Given the description of an element on the screen output the (x, y) to click on. 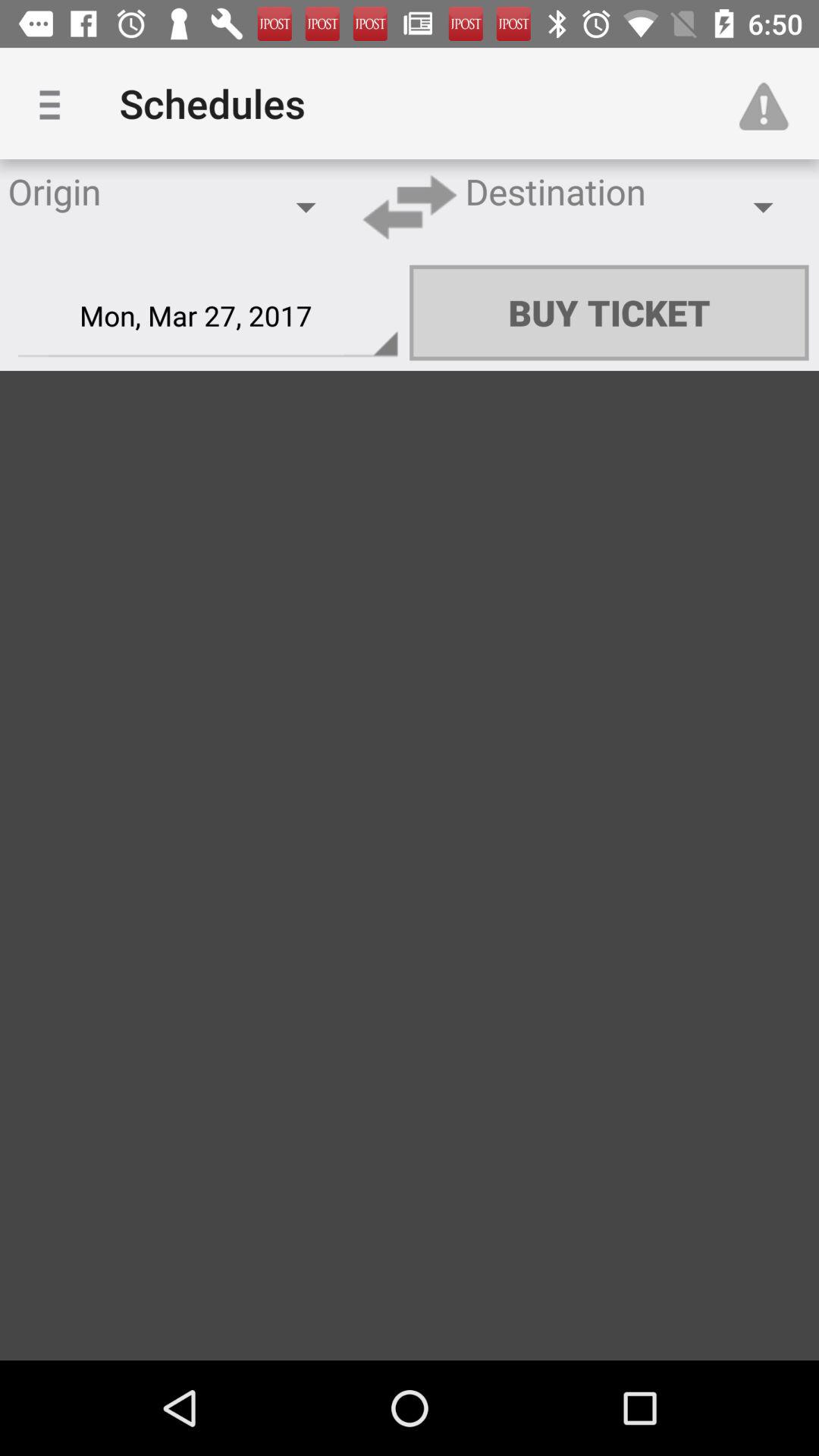
turn on item next to the schedules app (55, 103)
